Given the description of an element on the screen output the (x, y) to click on. 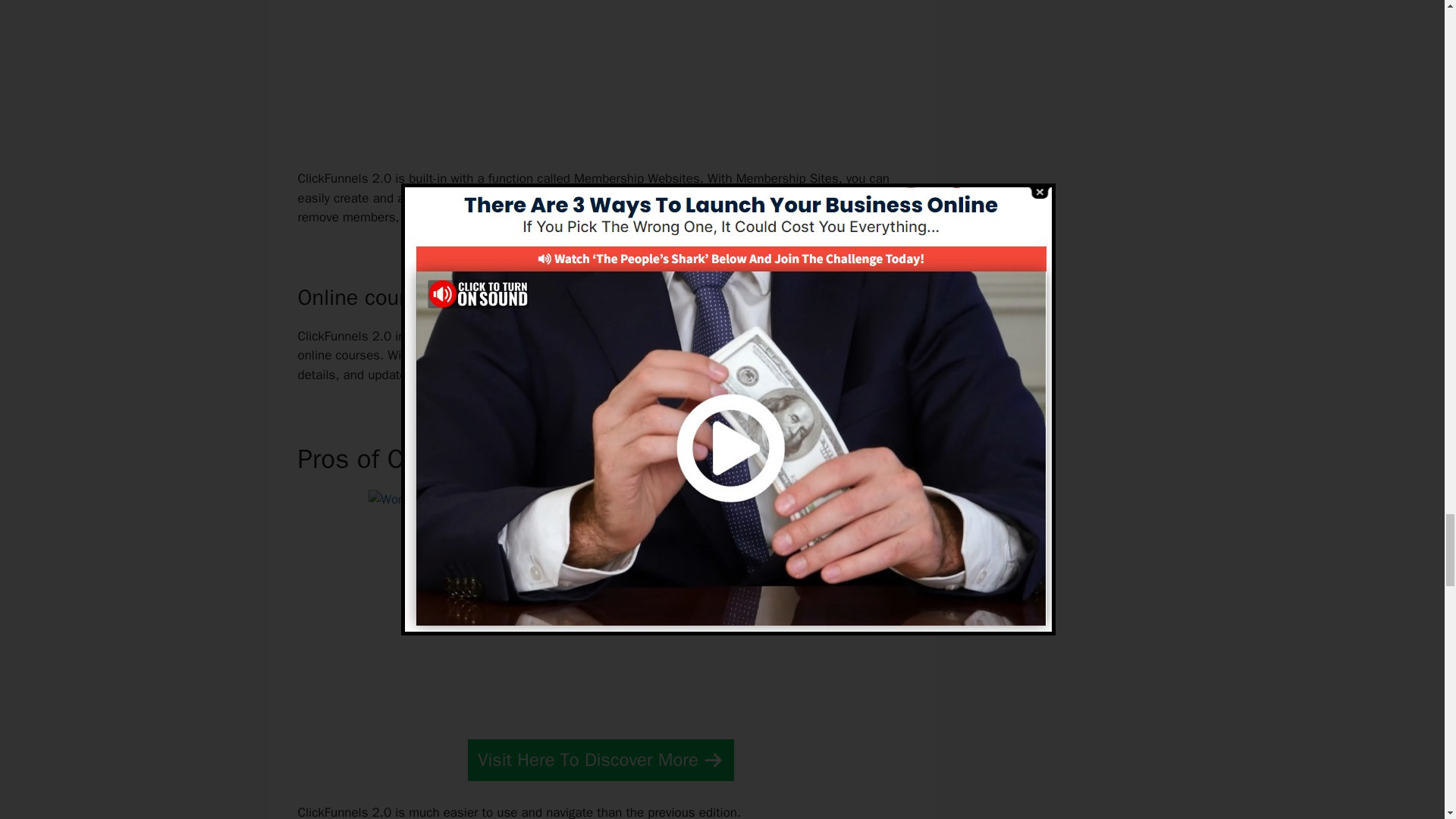
Visit Here To Discover More (600, 760)
membership websites (558, 198)
